Given the description of an element on the screen output the (x, y) to click on. 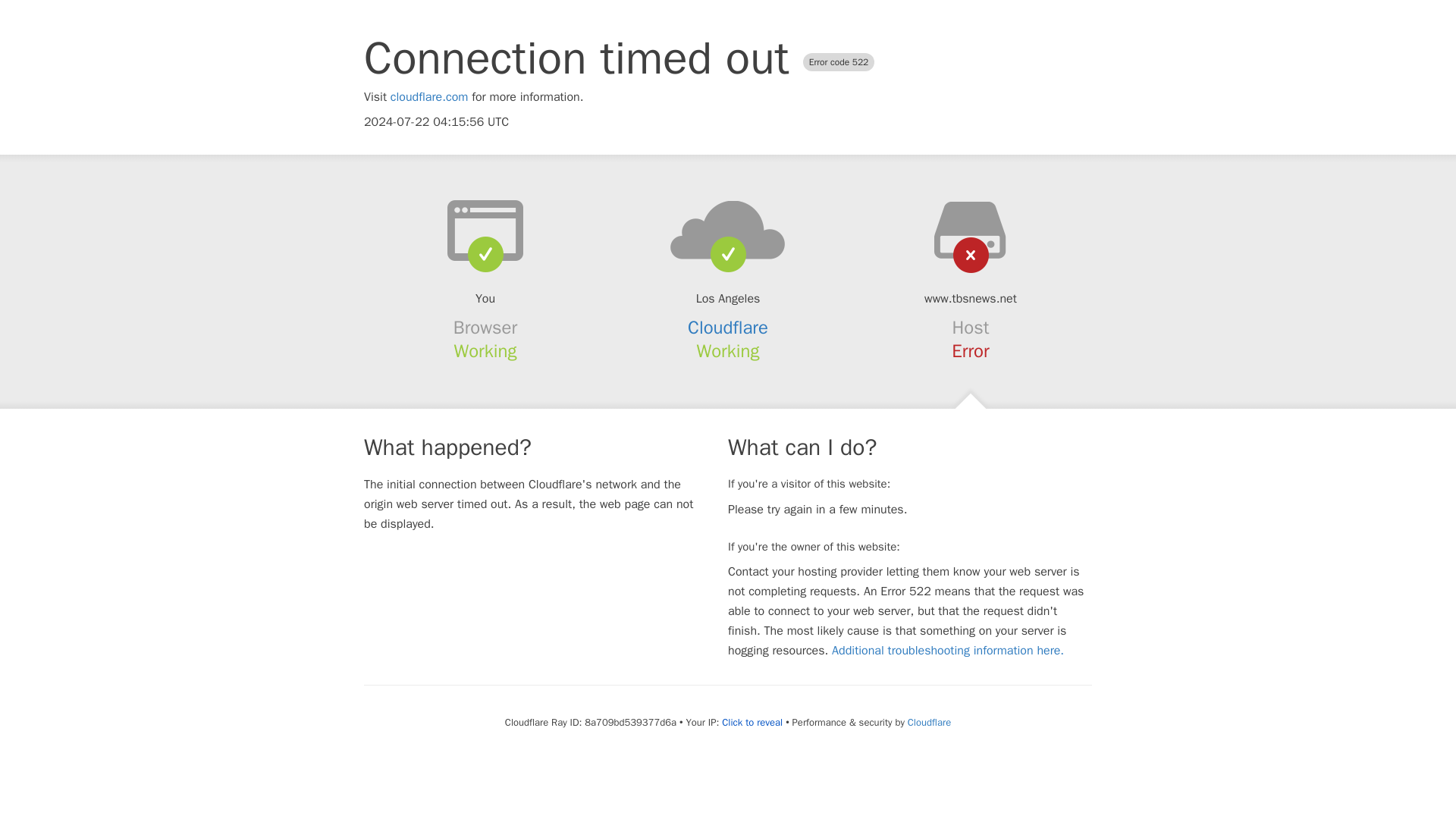
Additional troubleshooting information here. (947, 650)
Click to reveal (752, 722)
cloudflare.com (429, 96)
Cloudflare (928, 721)
Cloudflare (727, 327)
